Given the description of an element on the screen output the (x, y) to click on. 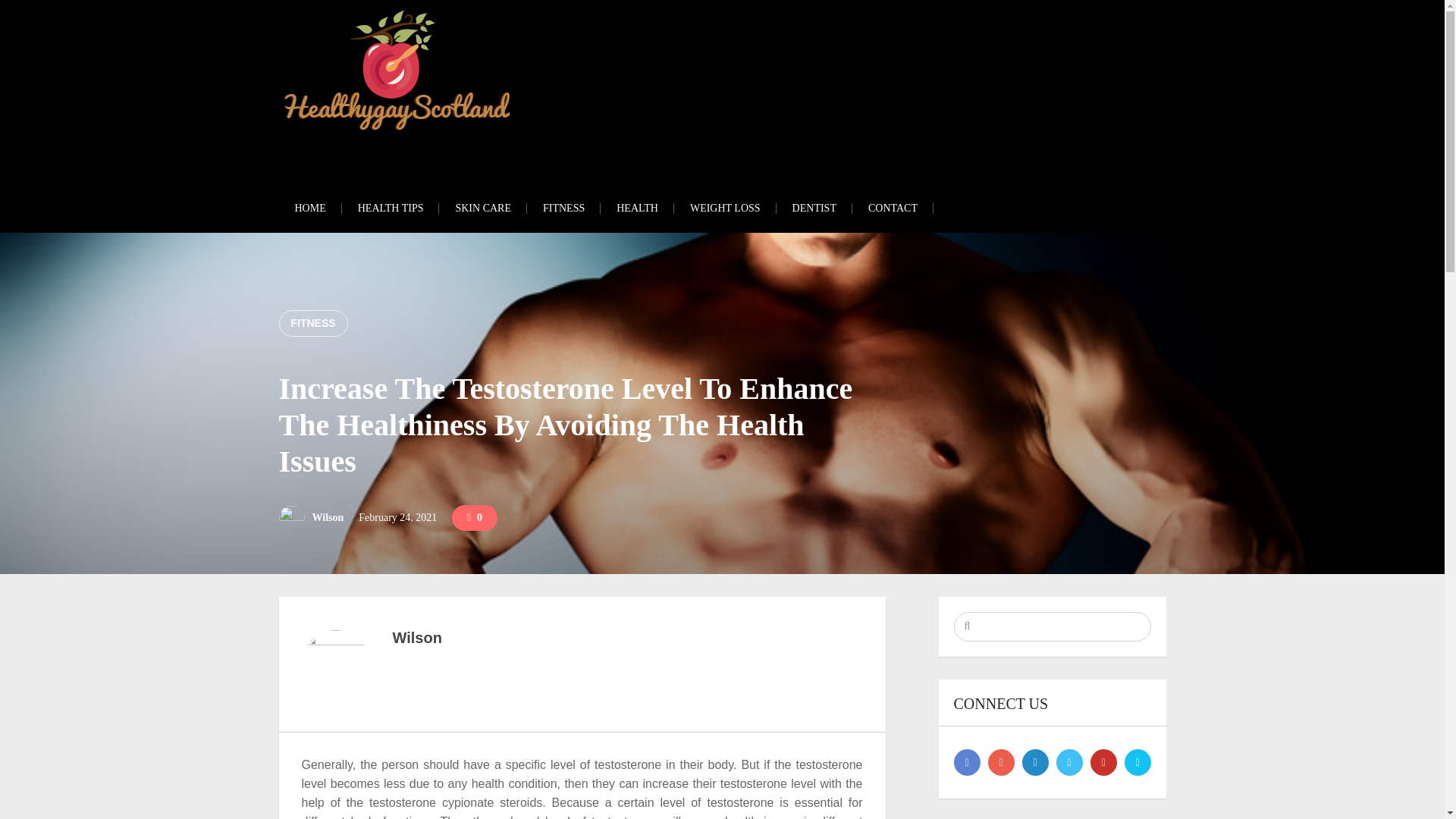
WEIGHT LOSS (725, 208)
Wilson (328, 517)
HEALTH TIPS (390, 208)
0 (474, 517)
FITNESS (563, 208)
Posts by Wilson (328, 517)
Twitter (1068, 762)
HOME (310, 208)
HEALTH (636, 208)
SKIN CARE (483, 208)
LinkedIn (1137, 762)
CONTACT (892, 208)
Wilson (417, 637)
YouTube (1103, 762)
LinkedIn (1035, 762)
